Given the description of an element on the screen output the (x, y) to click on. 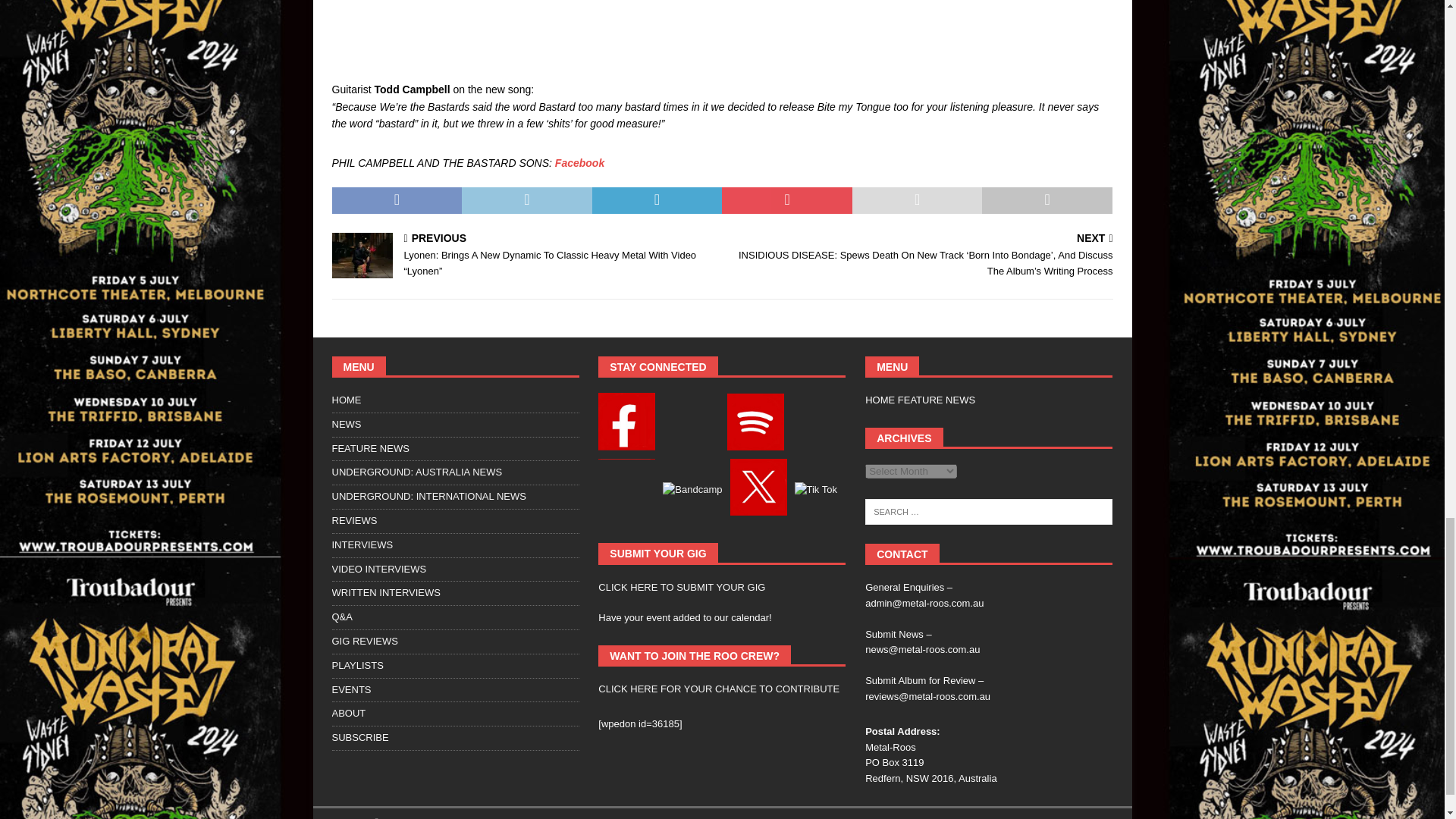
 Instagram (689, 400)
 Facebook (625, 400)
 Bandcamp (628, 418)
 X (674, 418)
 Youtube (798, 400)
 Spotify (746, 400)
